Given the description of an element on the screen output the (x, y) to click on. 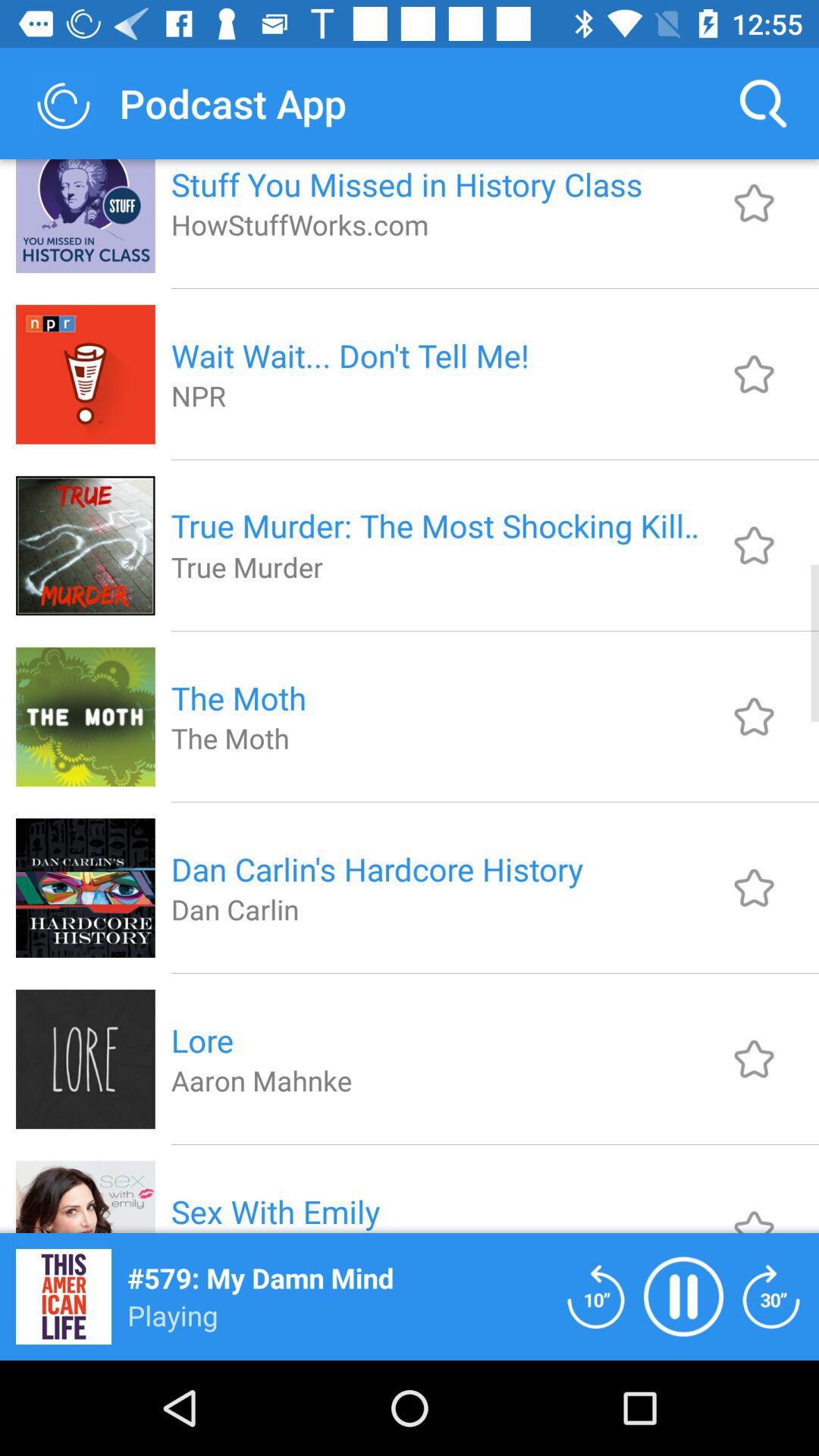
give star rating (754, 374)
